Given the description of an element on the screen output the (x, y) to click on. 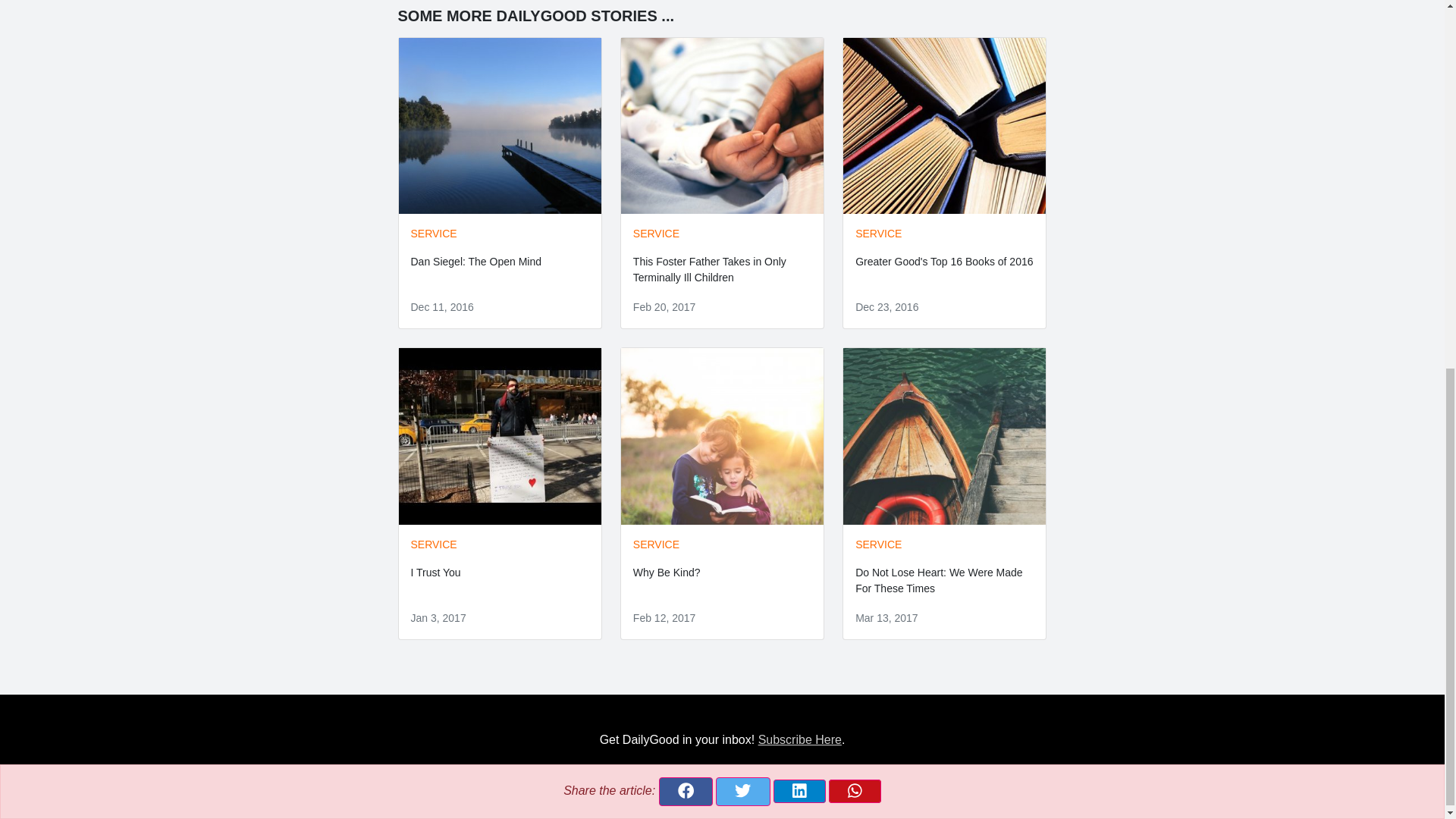
This Foster Father Takes in Only Terminally Ill Children (709, 269)
Dan Siegel: The Open Mind (475, 261)
Greater Good's Top 16 Books of 2016 (944, 261)
Why Be Kind? (666, 572)
SERVICE (878, 233)
SERVICE (656, 233)
SERVICE (656, 544)
SERVICE (433, 233)
I Trust You (435, 572)
SERVICE (433, 544)
